Given the description of an element on the screen output the (x, y) to click on. 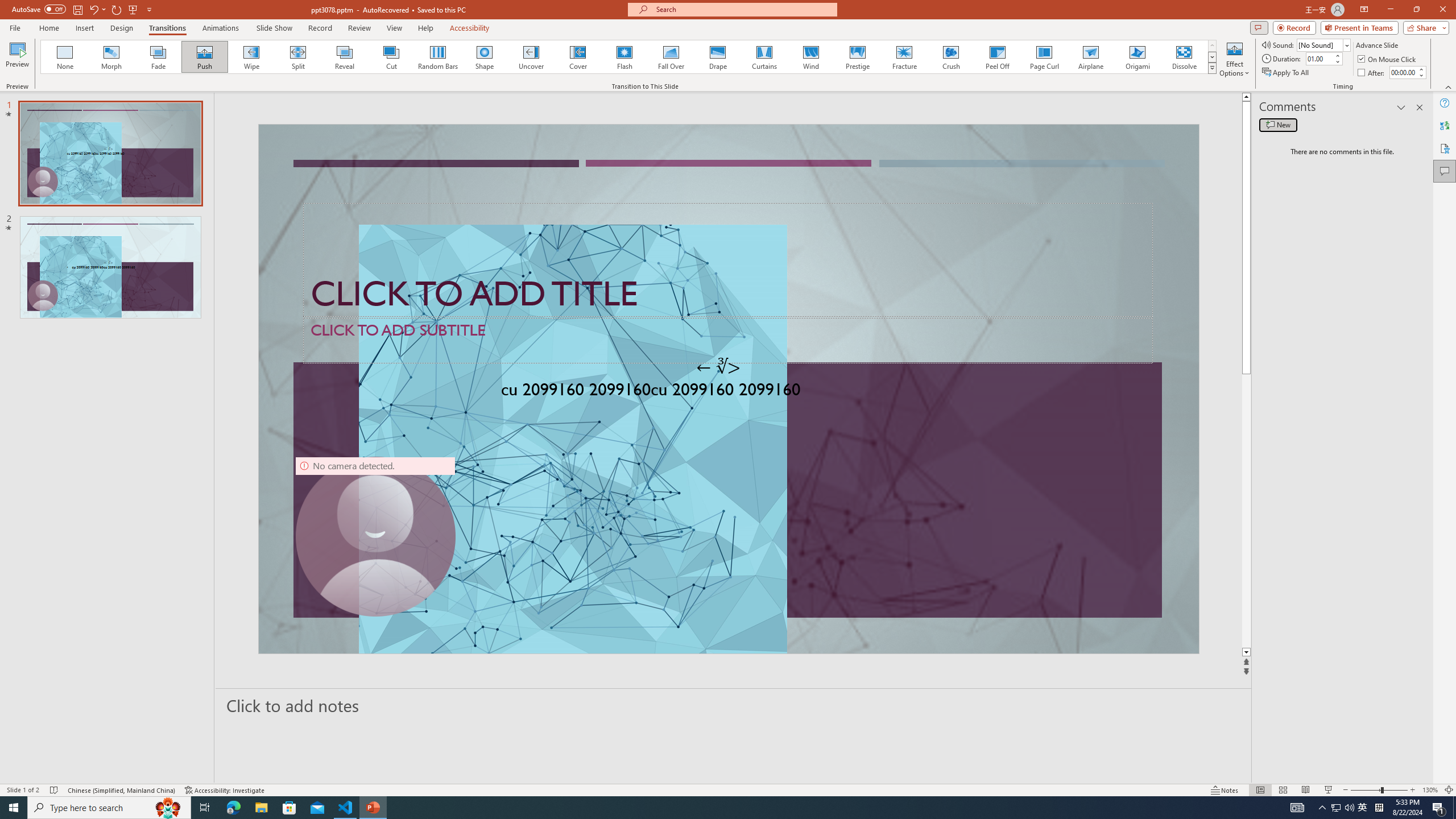
Duration (1319, 58)
AutomationID: AnimationTransitionGallery (628, 56)
Wipe (251, 56)
Split (298, 56)
Drape (717, 56)
None (65, 56)
